Given the description of an element on the screen output the (x, y) to click on. 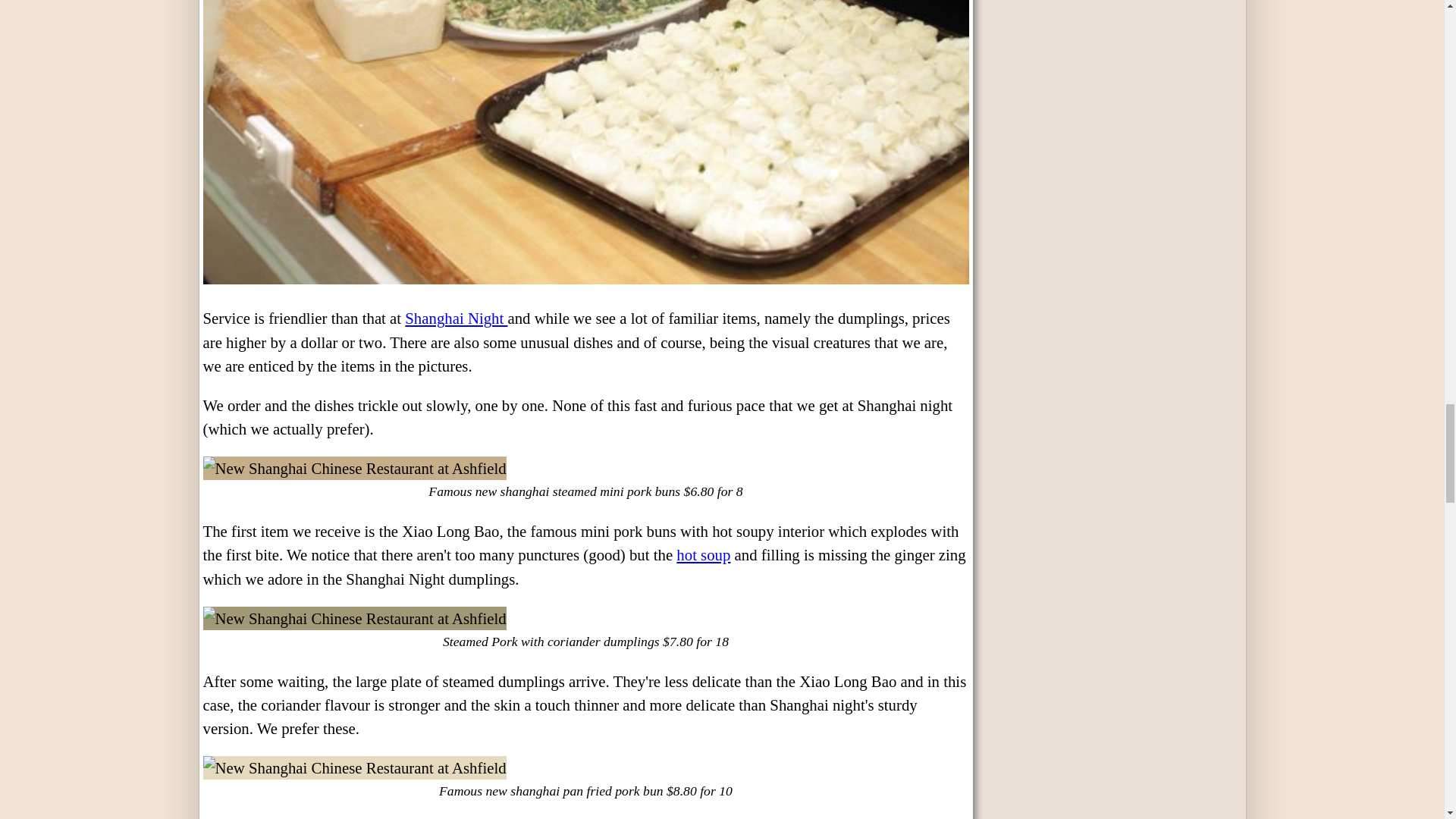
Shanghai Night (455, 317)
hot soup (703, 554)
